Given the description of an element on the screen output the (x, y) to click on. 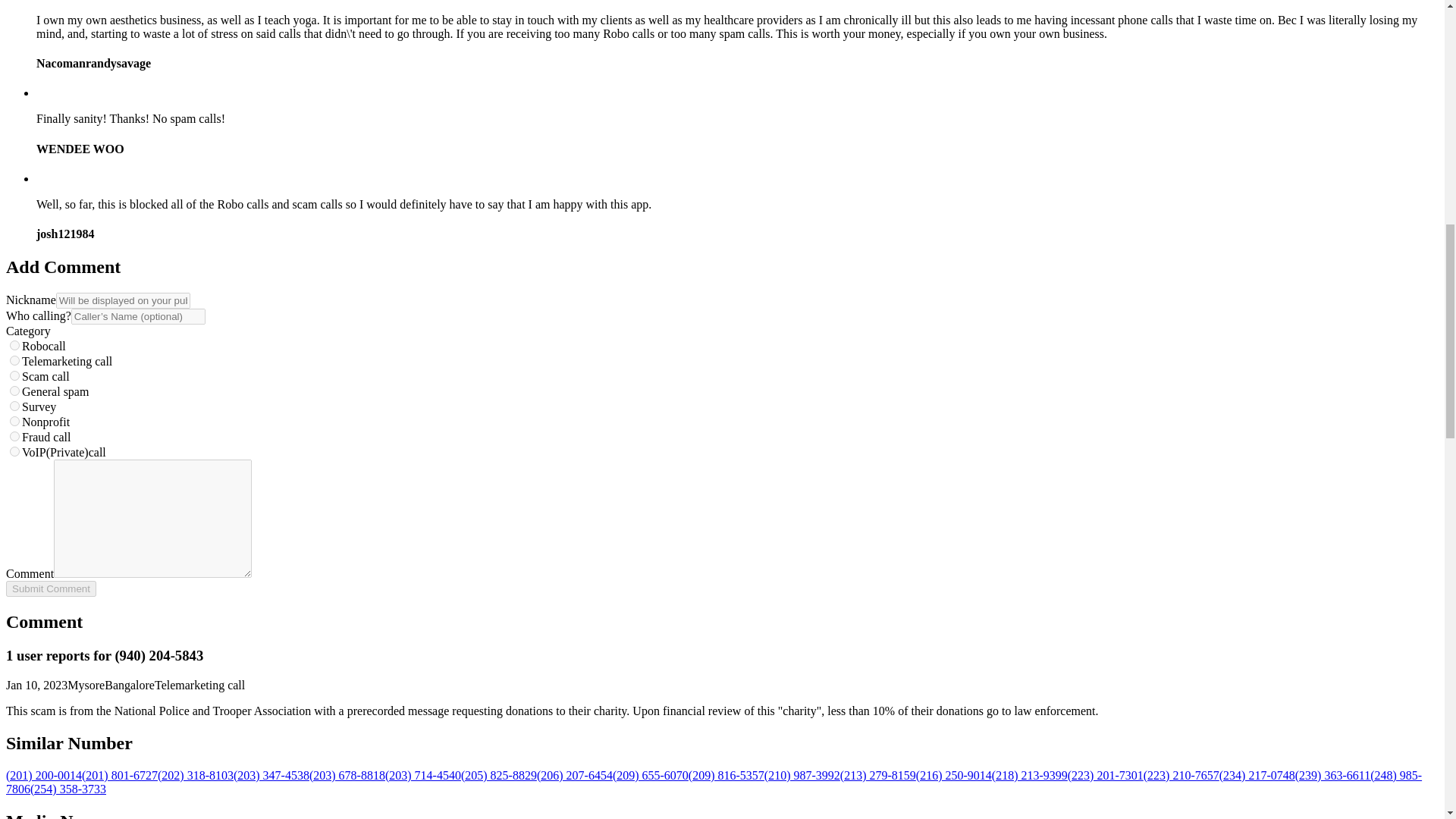
2 (15, 360)
1 (15, 345)
5 (15, 406)
8 (15, 451)
7 (15, 436)
3 (15, 375)
4 (15, 390)
6 (15, 420)
